Given the description of an element on the screen output the (x, y) to click on. 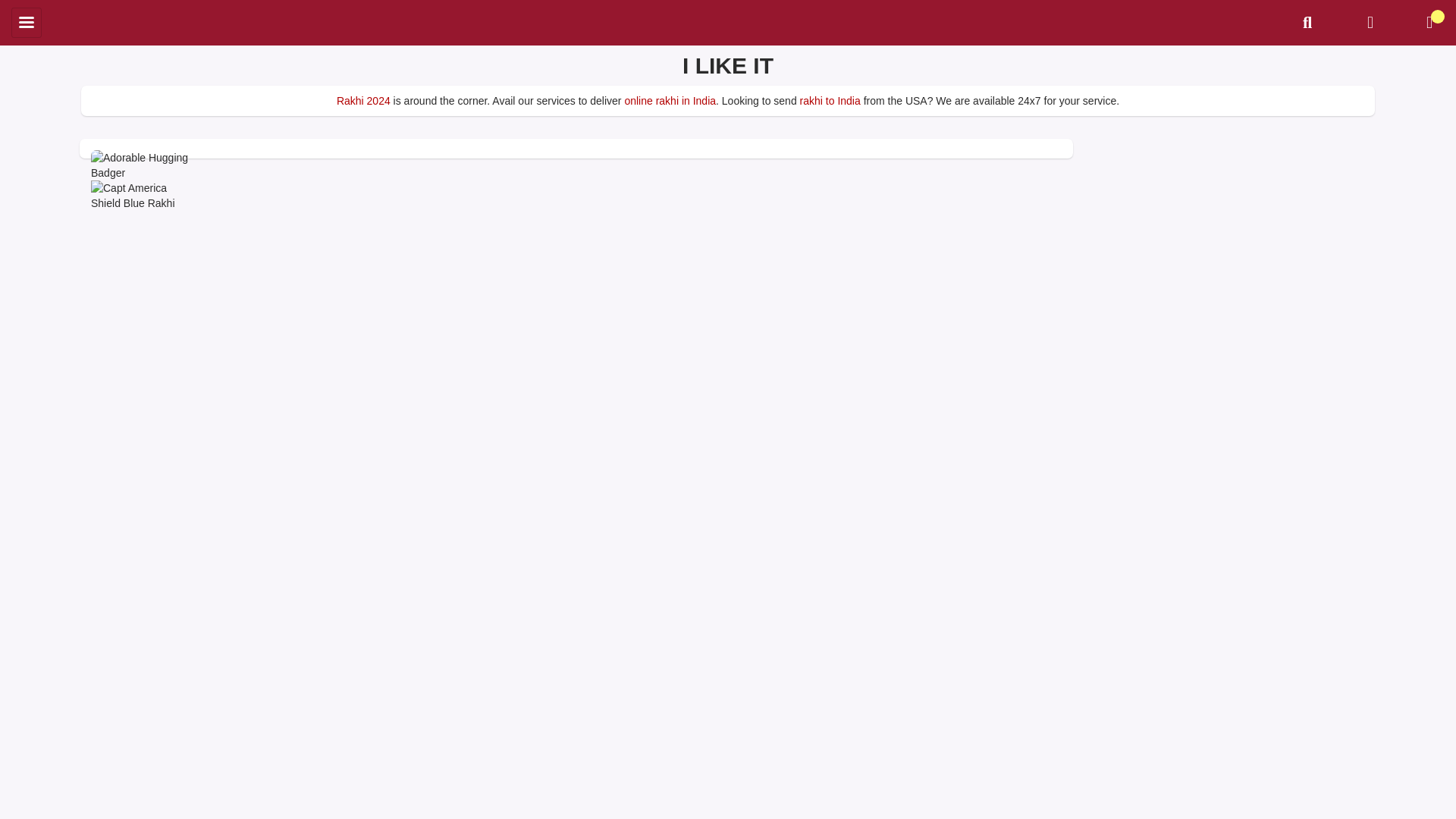
menu (26, 22)
